Given the description of an element on the screen output the (x, y) to click on. 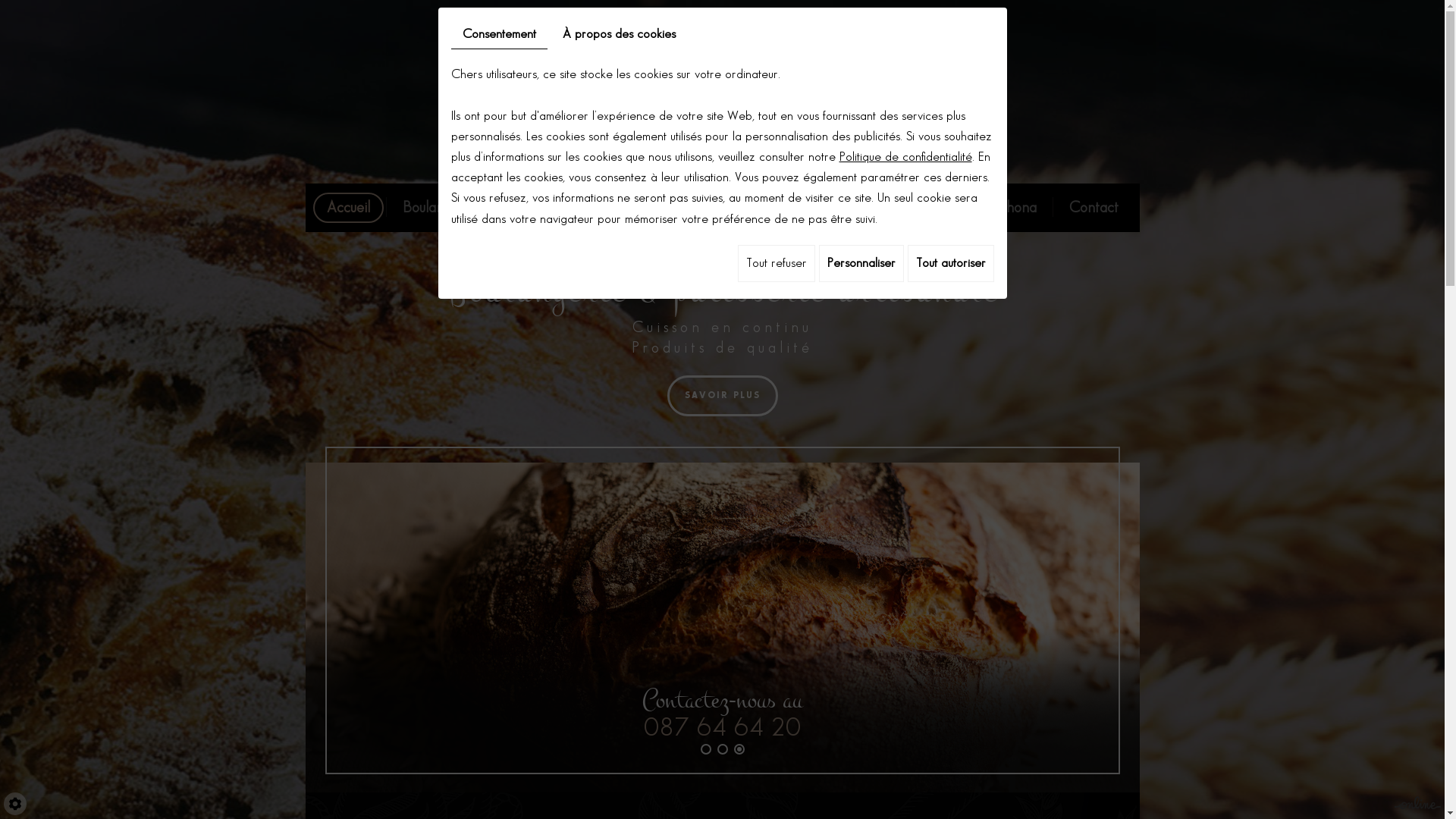
SAVOIR PLUS Element type: text (722, 395)
Consentement Element type: text (498, 34)
Boulangerie Element type: text (437, 207)
087 64 64 20 Element type: text (721, 728)
Contact Element type: text (1093, 207)
Sandwiches & quiches Element type: text (826, 207)
Personnaliser Element type: text (861, 263)
Tout refuser Element type: text (775, 263)
Accueil Element type: text (347, 207)
Tout autoriser Element type: text (949, 263)
Chocolat Valrhona Element type: text (980, 207)
